Given the description of an element on the screen output the (x, y) to click on. 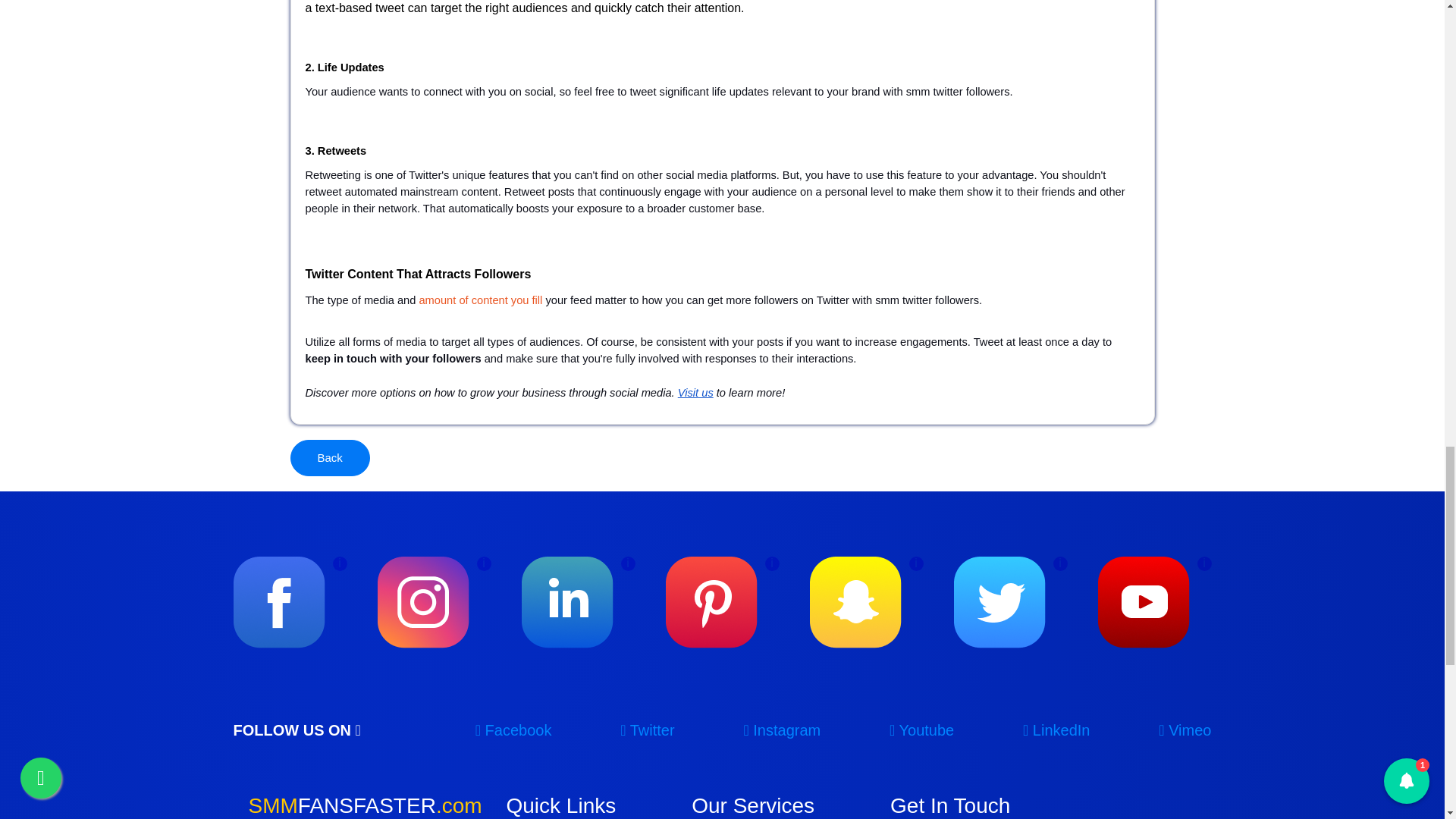
LinkedIn (1056, 730)
Youtube (921, 730)
amount of content you fill (480, 300)
Twitter (647, 730)
Vimeo (1184, 730)
Instagram (781, 730)
Facebook (513, 730)
Visit us (695, 391)
Back (329, 457)
